Given the description of an element on the screen output the (x, y) to click on. 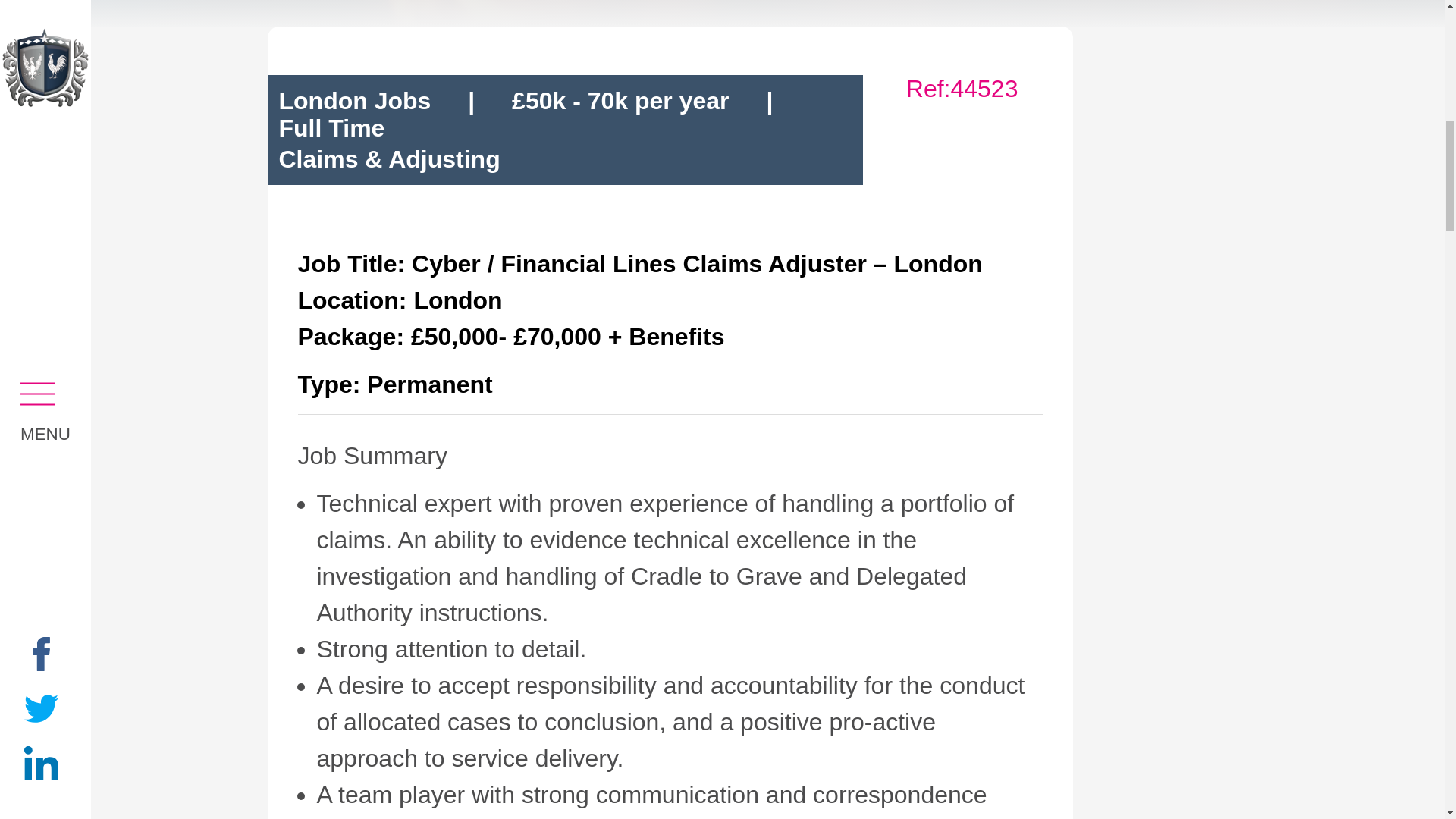
London Jobs (354, 100)
